Given the description of an element on the screen output the (x, y) to click on. 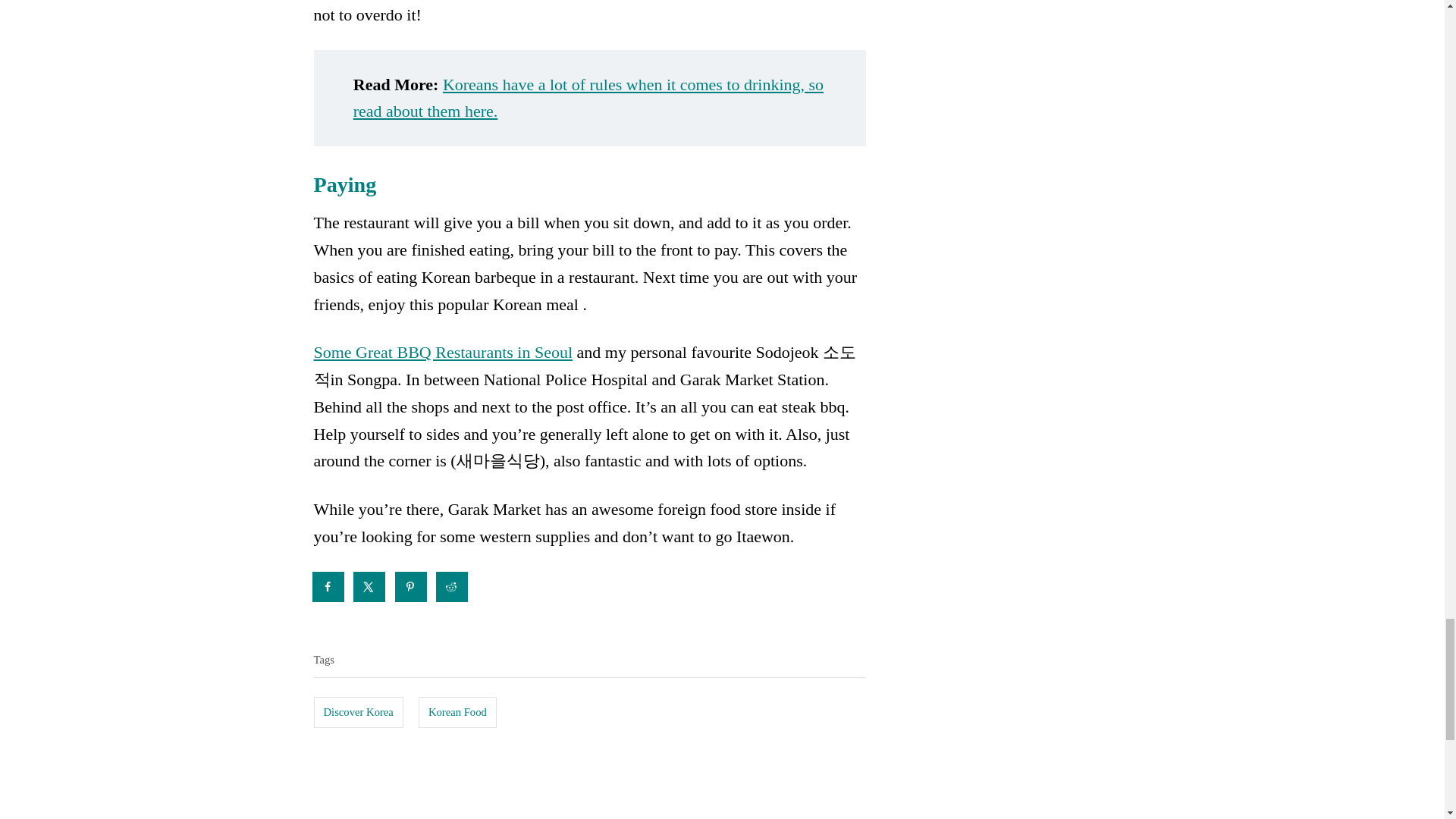
Share on Facebook (328, 586)
Share on Reddit (452, 586)
Share on X (370, 586)
Save to Pinterest (411, 586)
